Given the description of an element on the screen output the (x, y) to click on. 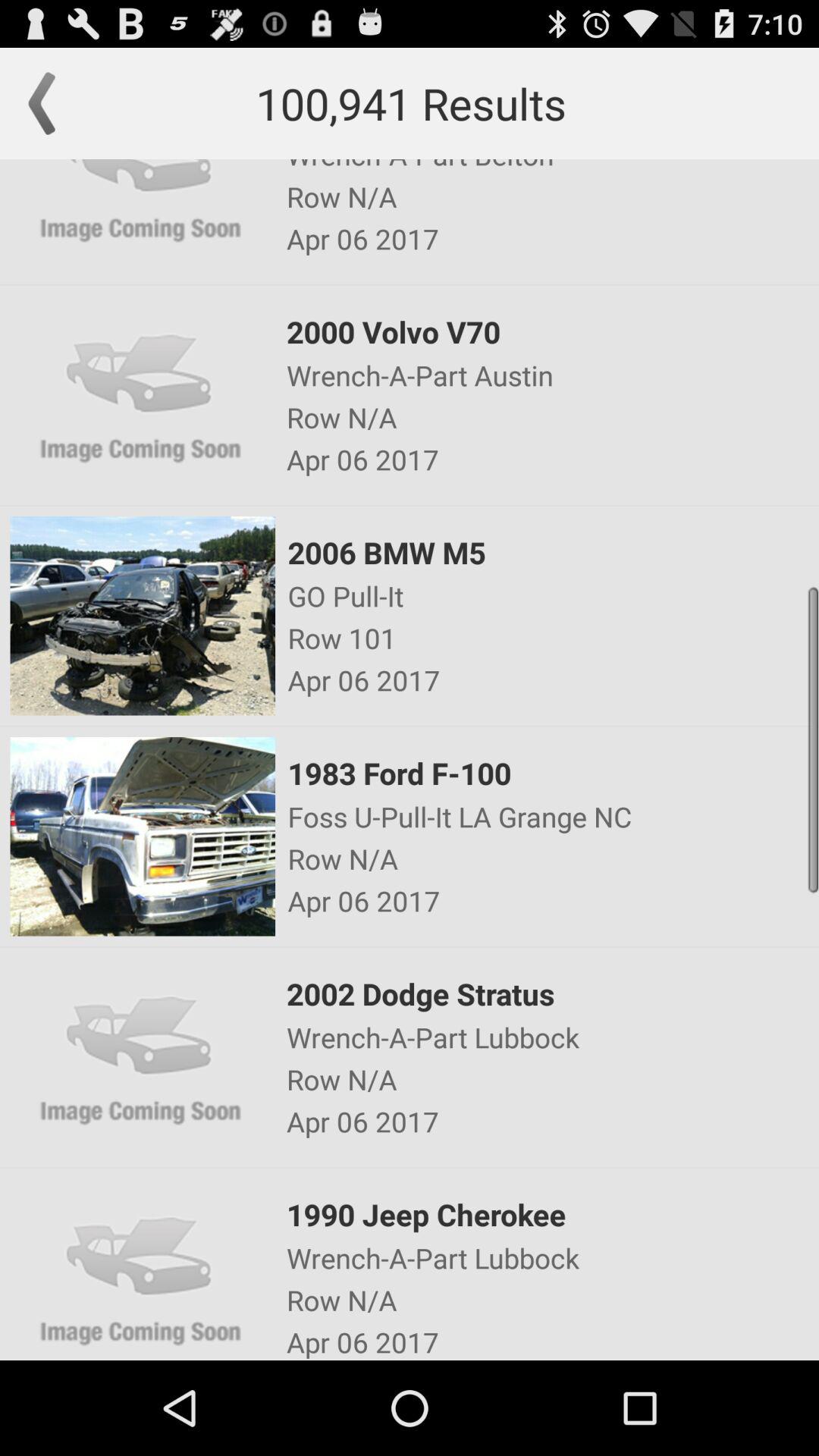
tap item below the apr 06 2017 (551, 331)
